Given the description of an element on the screen output the (x, y) to click on. 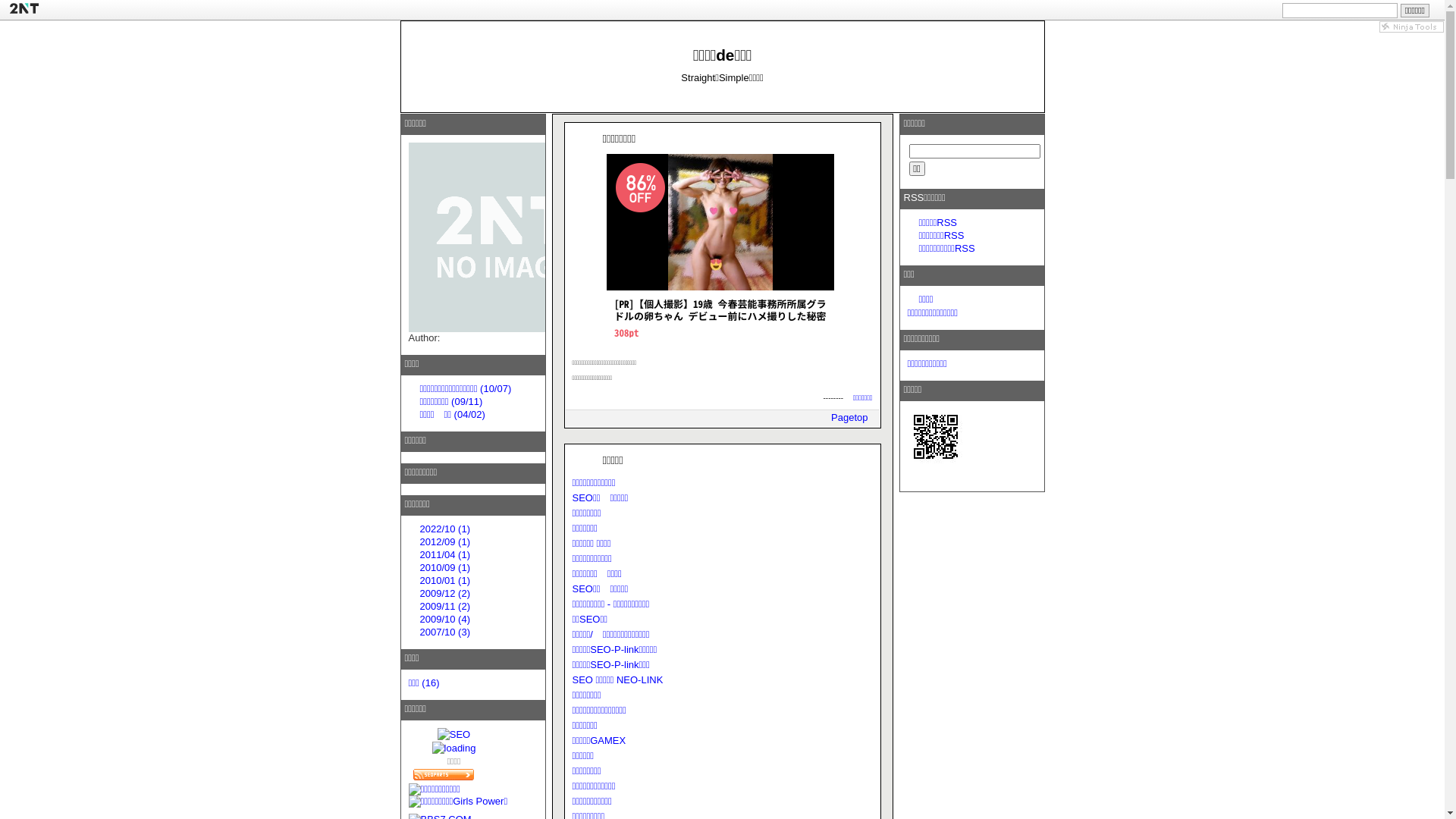
2009/10 (4) Element type: text (445, 618)
2012/09 (1) Element type: text (445, 541)
2011/04 (1) Element type: text (445, 554)
2009/11 (2) Element type: text (445, 605)
2022/10 (1) Element type: text (445, 528)
2010/09 (1) Element type: text (445, 567)
2007/10 (3) Element type: text (445, 631)
2010/01 (1) Element type: text (445, 580)
2009/12 (2) Element type: text (445, 593)
Pagetop Element type: text (849, 417)
